Given the description of an element on the screen output the (x, y) to click on. 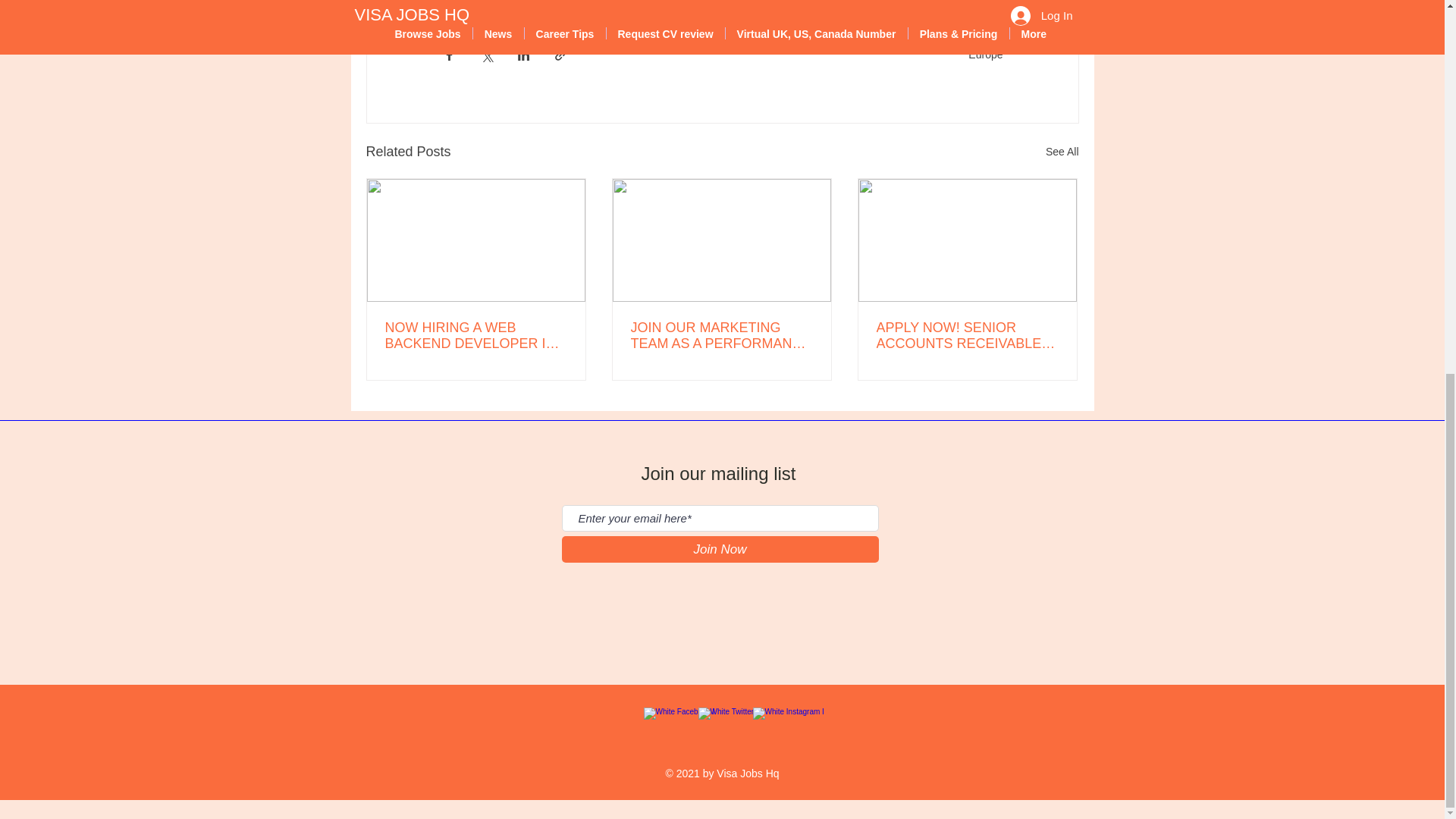
See All (1061, 151)
Accounting (477, 4)
Europe (985, 54)
